Given the description of an element on the screen output the (x, y) to click on. 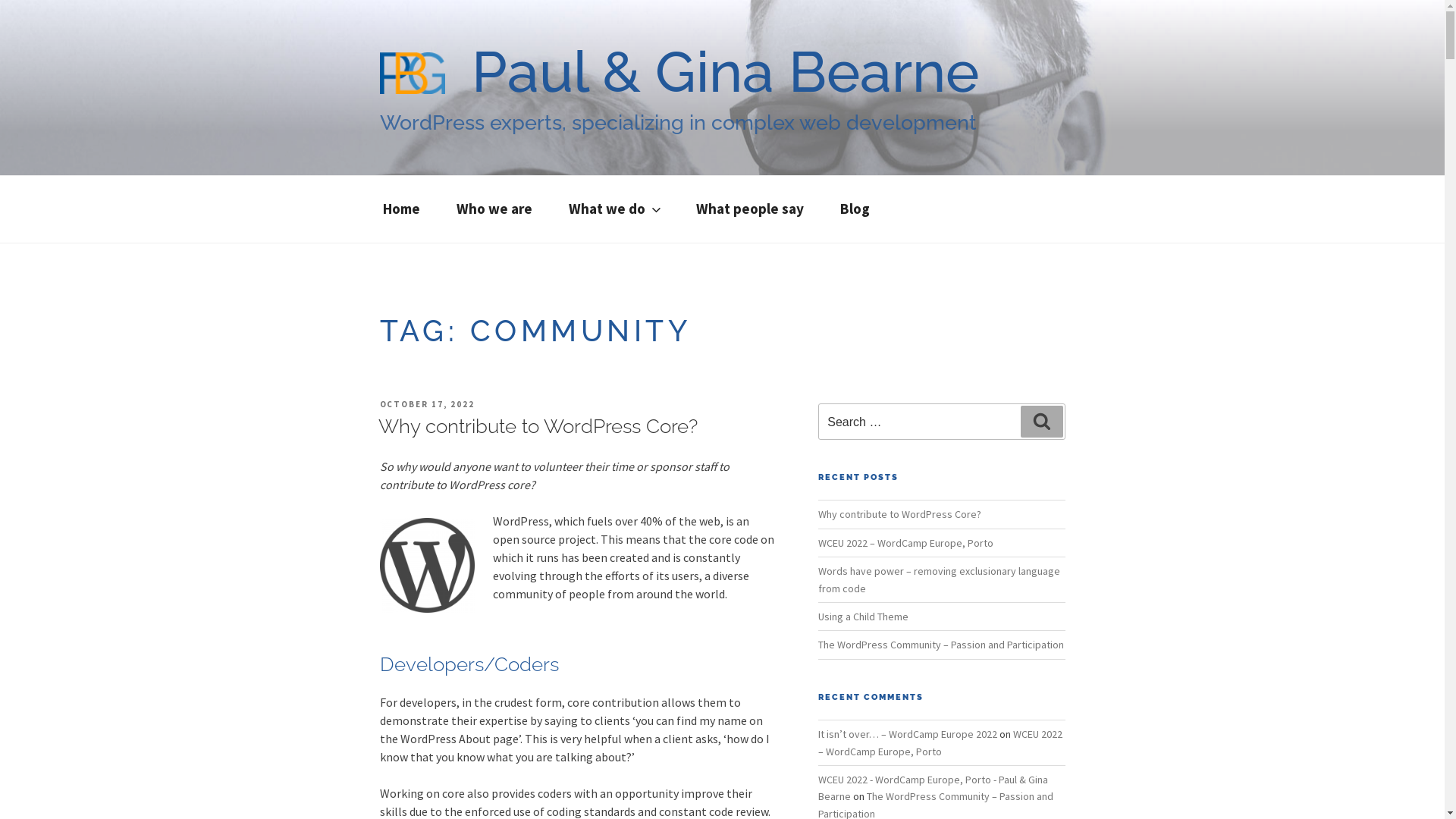
WCEU 2022 - WordCamp Europe, Porto - Paul & Gina Bearne Element type: text (933, 787)
What people say Element type: text (749, 208)
Who we are Element type: text (494, 208)
OCTOBER 17, 2022 Element type: text (426, 403)
Search Element type: text (1041, 421)
Using a Child Theme Element type: text (863, 616)
Why contribute to WordPress Core? Element type: text (536, 425)
What we do Element type: text (613, 208)
Paul & Gina Bearne Element type: text (725, 71)
Home Element type: text (400, 208)
Blog Element type: text (855, 208)
Why contribute to WordPress Core? Element type: text (899, 513)
